Given the description of an element on the screen output the (x, y) to click on. 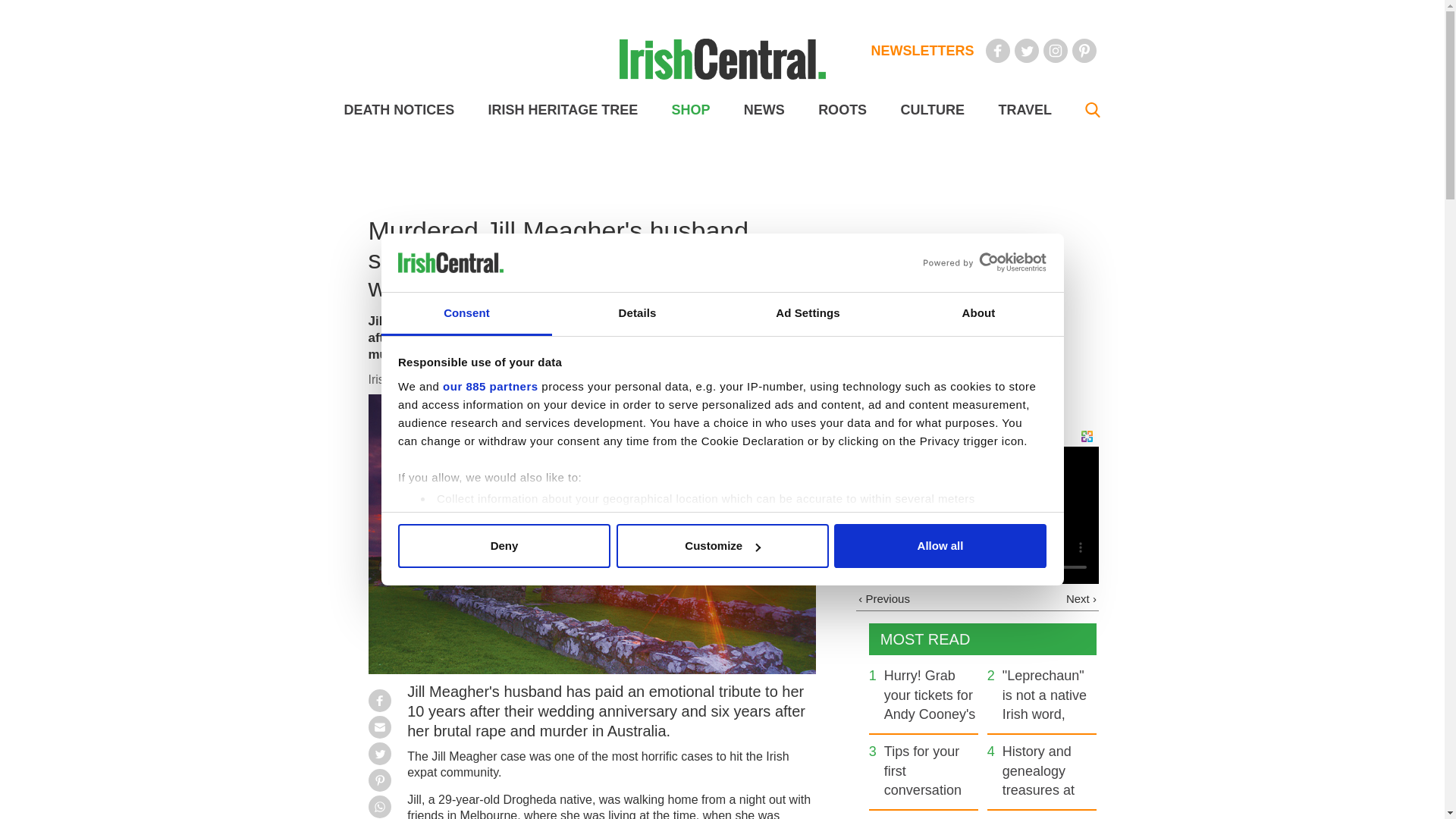
Details (636, 313)
our 885 partners (490, 386)
About (978, 313)
Ad Settings (807, 313)
details section (927, 536)
Consent (465, 313)
